Given the description of an element on the screen output the (x, y) to click on. 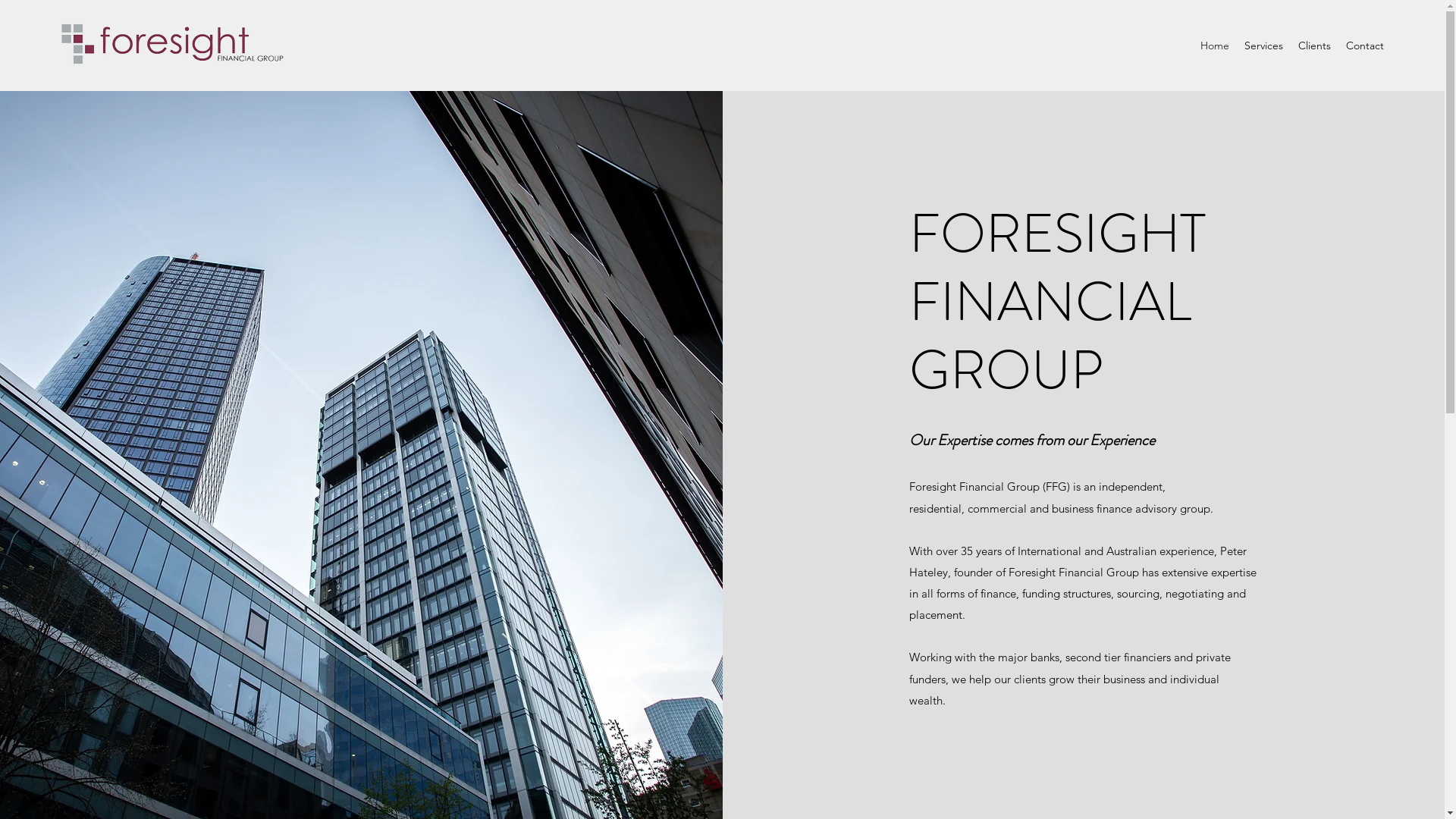
Clients Element type: text (1314, 45)
Services Element type: text (1263, 45)
Contact Element type: text (1364, 45)
Home Element type: text (1214, 45)
